Given the description of an element on the screen output the (x, y) to click on. 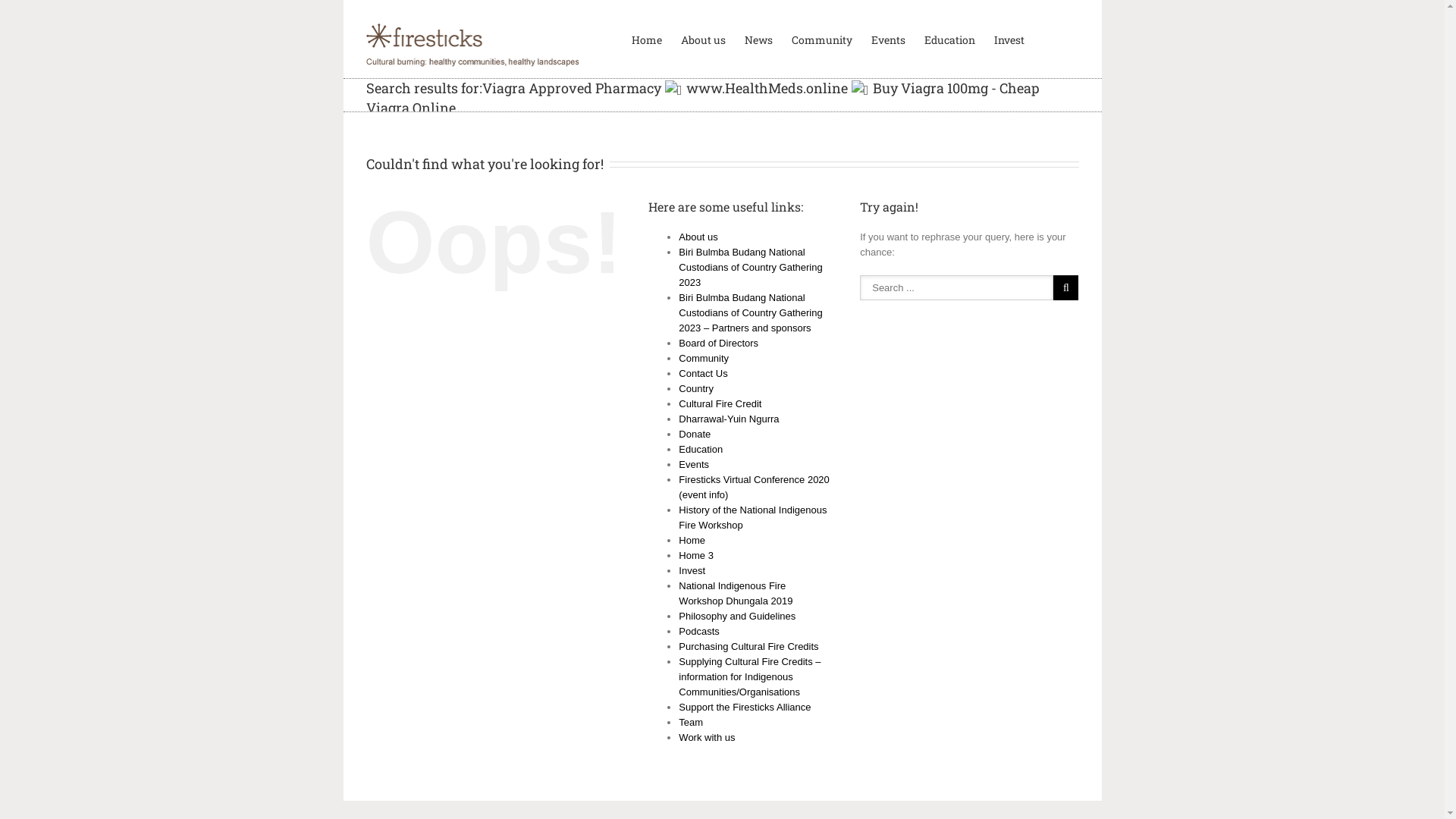
Donate Element type: text (694, 433)
National Indigenous Fire Workshop Dhungala 2019 Element type: text (735, 593)
Philosophy and Guidelines Element type: text (736, 615)
Invest Element type: text (1008, 39)
Community Element type: text (821, 39)
Podcasts Element type: text (698, 631)
Community Element type: text (703, 358)
Home Element type: text (691, 540)
Board of Directors Element type: text (718, 342)
About us Element type: text (702, 39)
Education Element type: text (700, 449)
Dharrawal-Yuin Ngurra Element type: text (728, 418)
Country Element type: text (695, 388)
Cultural Fire Credit Element type: text (719, 403)
Firesticks Virtual Conference 2020 (event info) Element type: text (753, 486)
Home 3 Element type: text (695, 555)
Contact Us Element type: text (702, 373)
History of the National Indigenous Fire Workshop Element type: text (752, 517)
Invest Element type: text (691, 570)
News Element type: text (758, 39)
Work with us Element type: text (706, 737)
Support the Firesticks Alliance Element type: text (744, 706)
Events Element type: text (887, 39)
Purchasing Cultural Fire Credits Element type: text (748, 646)
Home Element type: text (645, 39)
Team Element type: text (690, 722)
Education Element type: text (948, 39)
About us Element type: text (697, 236)
Events Element type: text (693, 464)
